Given the description of an element on the screen output the (x, y) to click on. 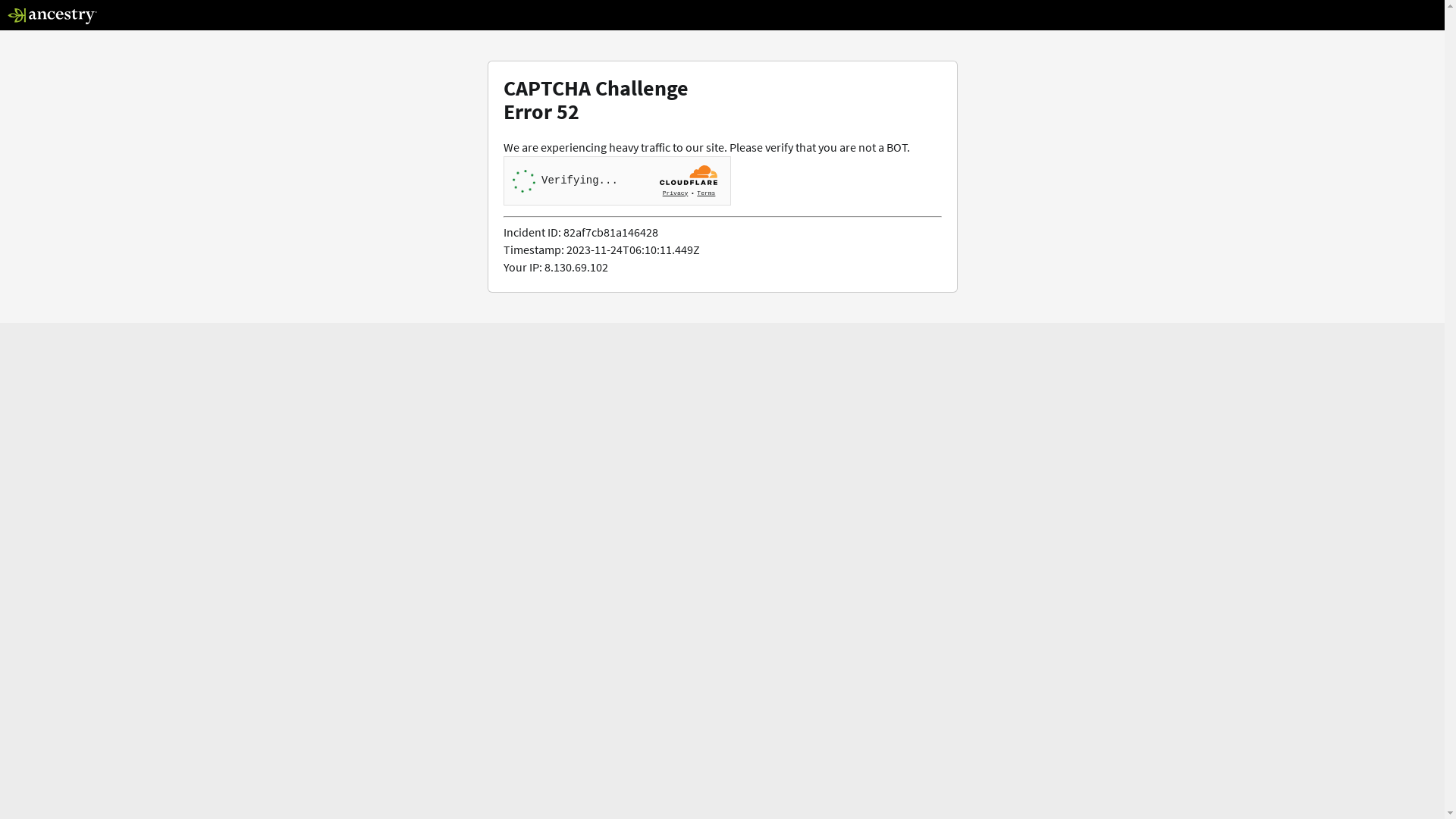
Widget containing a Cloudflare security challenge Element type: hover (617, 180)
